Given the description of an element on the screen output the (x, y) to click on. 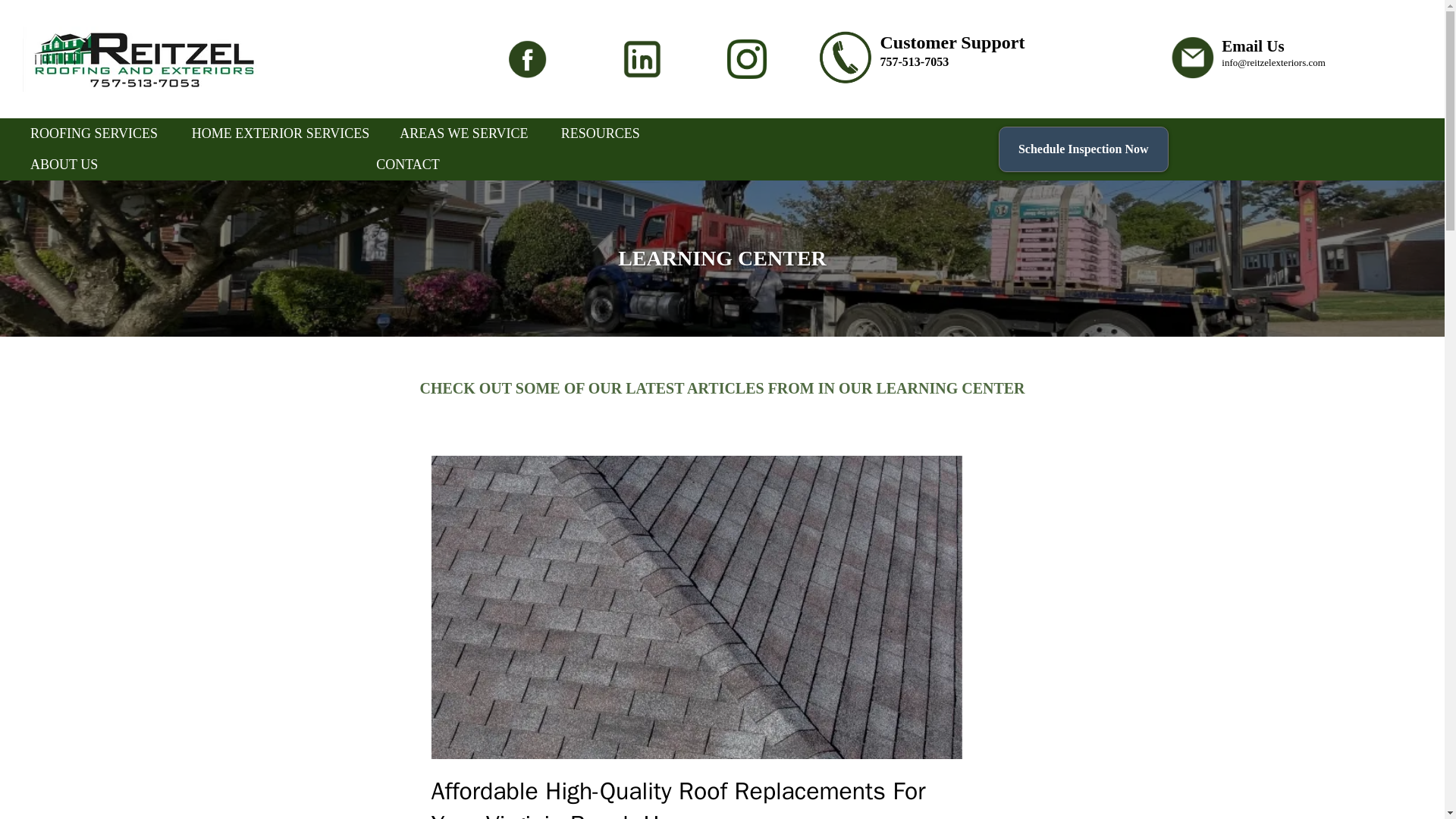
AREAS WE SERVICE (463, 133)
RESOURCES (600, 133)
CONTACT (407, 164)
Schedule Inspection Now (1083, 148)
ROOFING SERVICES (93, 133)
ABOUT US (63, 164)
HOME EXTERIOR SERVICES (280, 133)
757-513-7053 (914, 61)
